Given the description of an element on the screen output the (x, y) to click on. 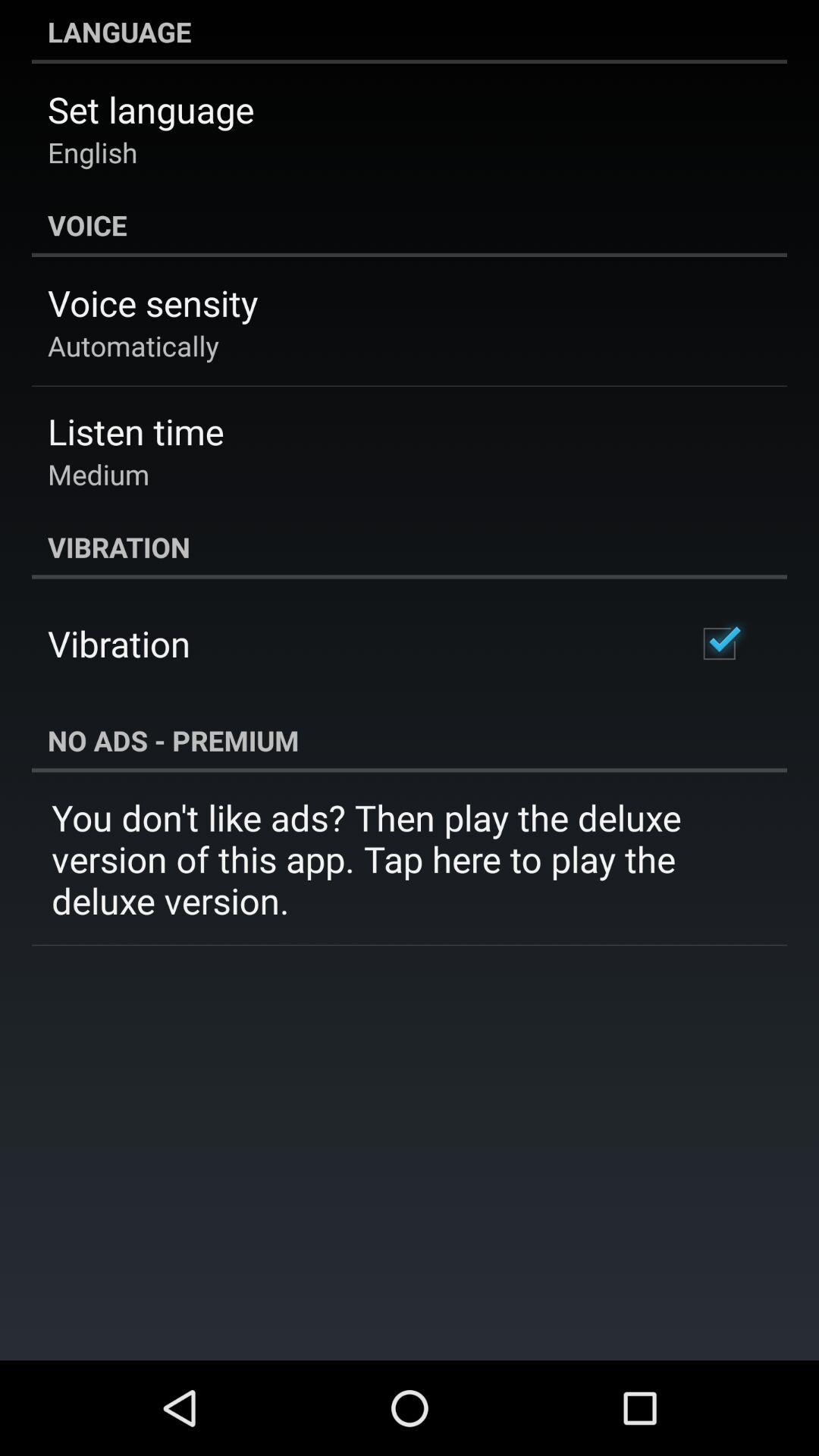
press the app below listen time item (98, 474)
